Given the description of an element on the screen output the (x, y) to click on. 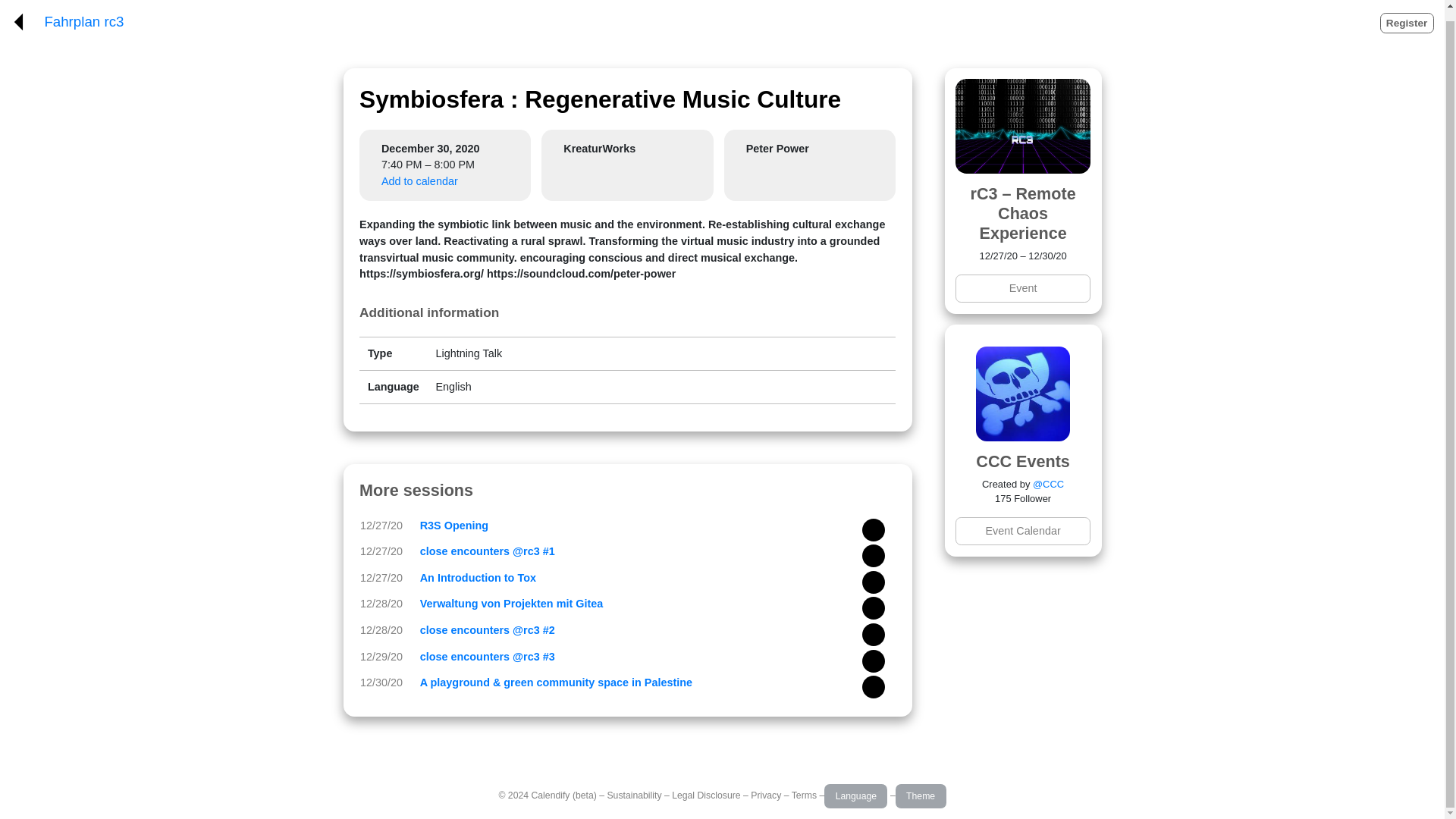
R3S Opening (453, 525)
Register (1407, 23)
Verwaltung von Projekten mit Gitea (512, 603)
Sustainability (634, 795)
Privacy (765, 795)
Legal Disclosure (705, 795)
Add to calendar (419, 181)
An Introduction to Tox (477, 577)
Event Calendar (1022, 530)
Fahrplan rc3 (83, 21)
Event (1022, 288)
